Given the description of an element on the screen output the (x, y) to click on. 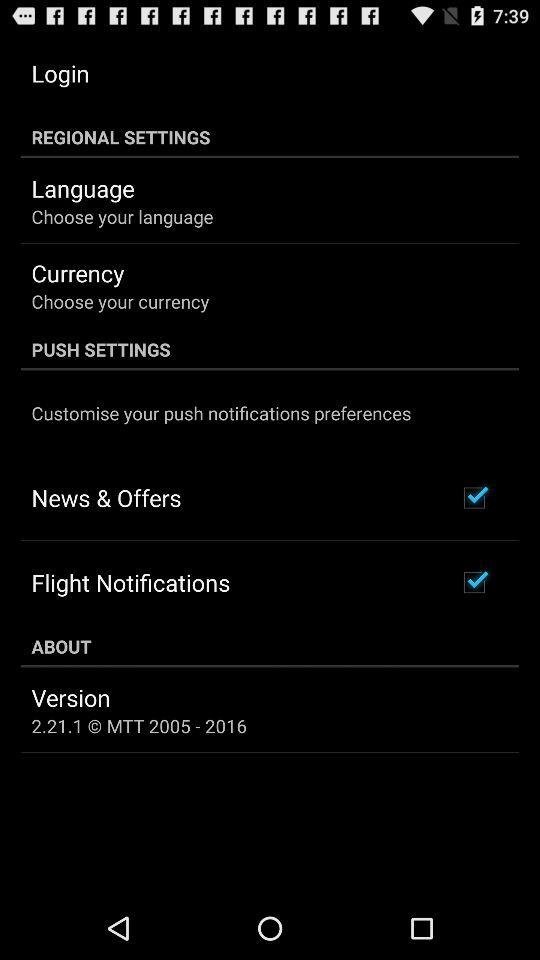
choose the icon below the choose your currency (270, 349)
